Given the description of an element on the screen output the (x, y) to click on. 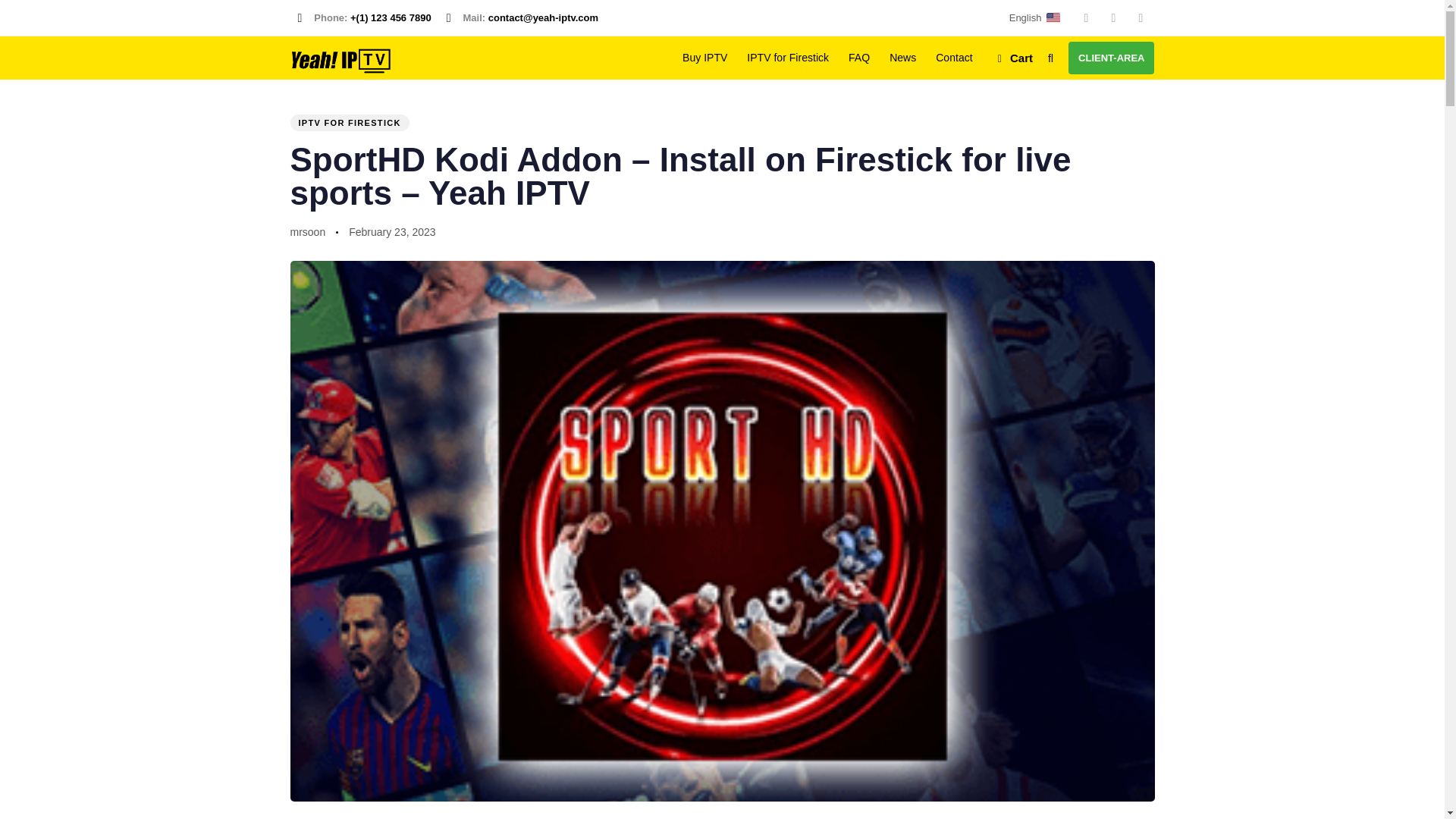
IPTV FOR FIRESTICK (349, 122)
IPTV for Firestick (787, 57)
News (902, 57)
FAQ (858, 57)
Contact (953, 57)
CLIENT-AREA (1111, 57)
Posts by mrsoon (306, 232)
February 23, 2023 (392, 231)
Buy IPTV (704, 57)
mrsoon (306, 232)
